Given the description of an element on the screen output the (x, y) to click on. 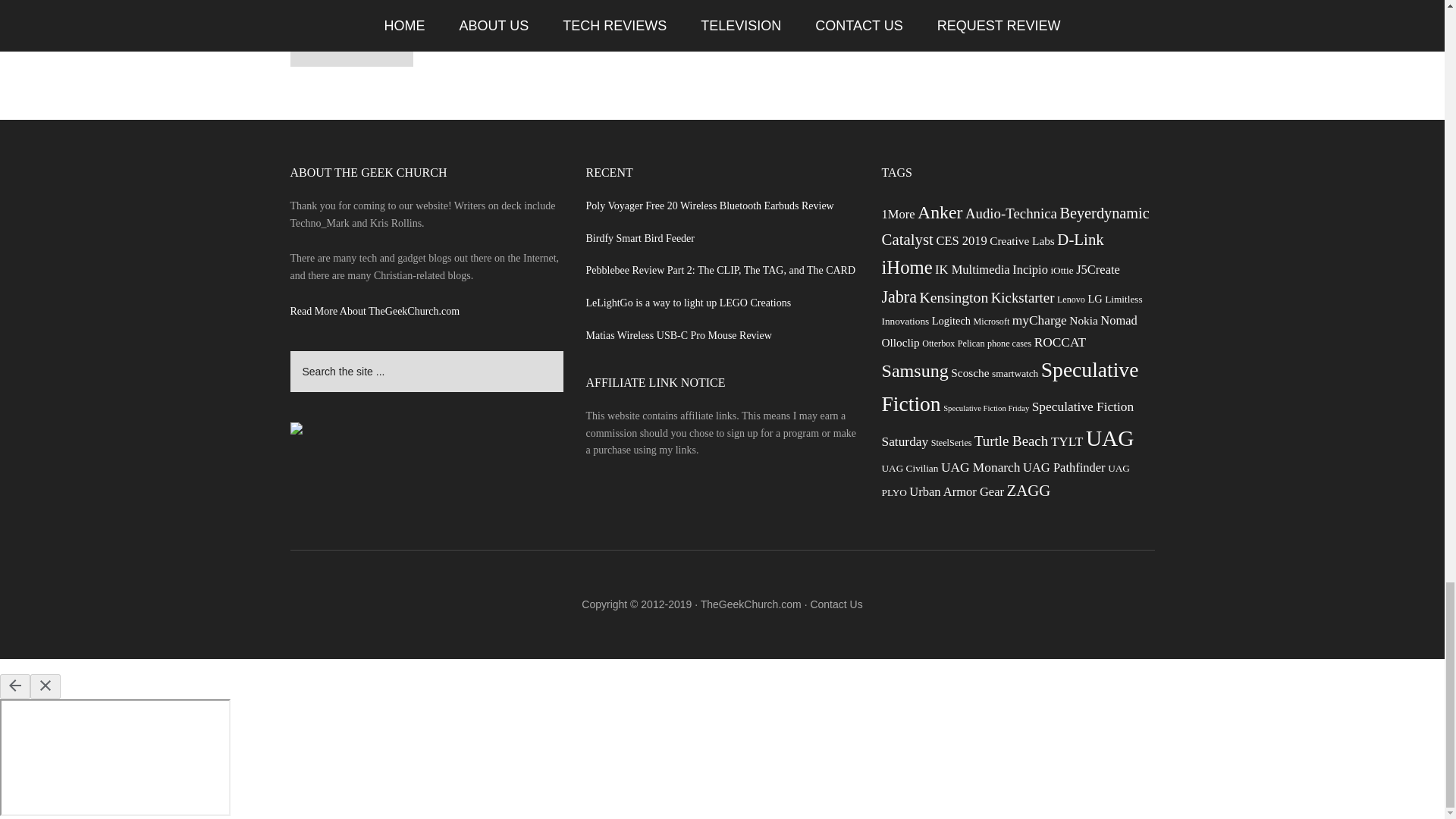
Post Comment (350, 45)
Post Comment (350, 45)
